Given the description of an element on the screen output the (x, y) to click on. 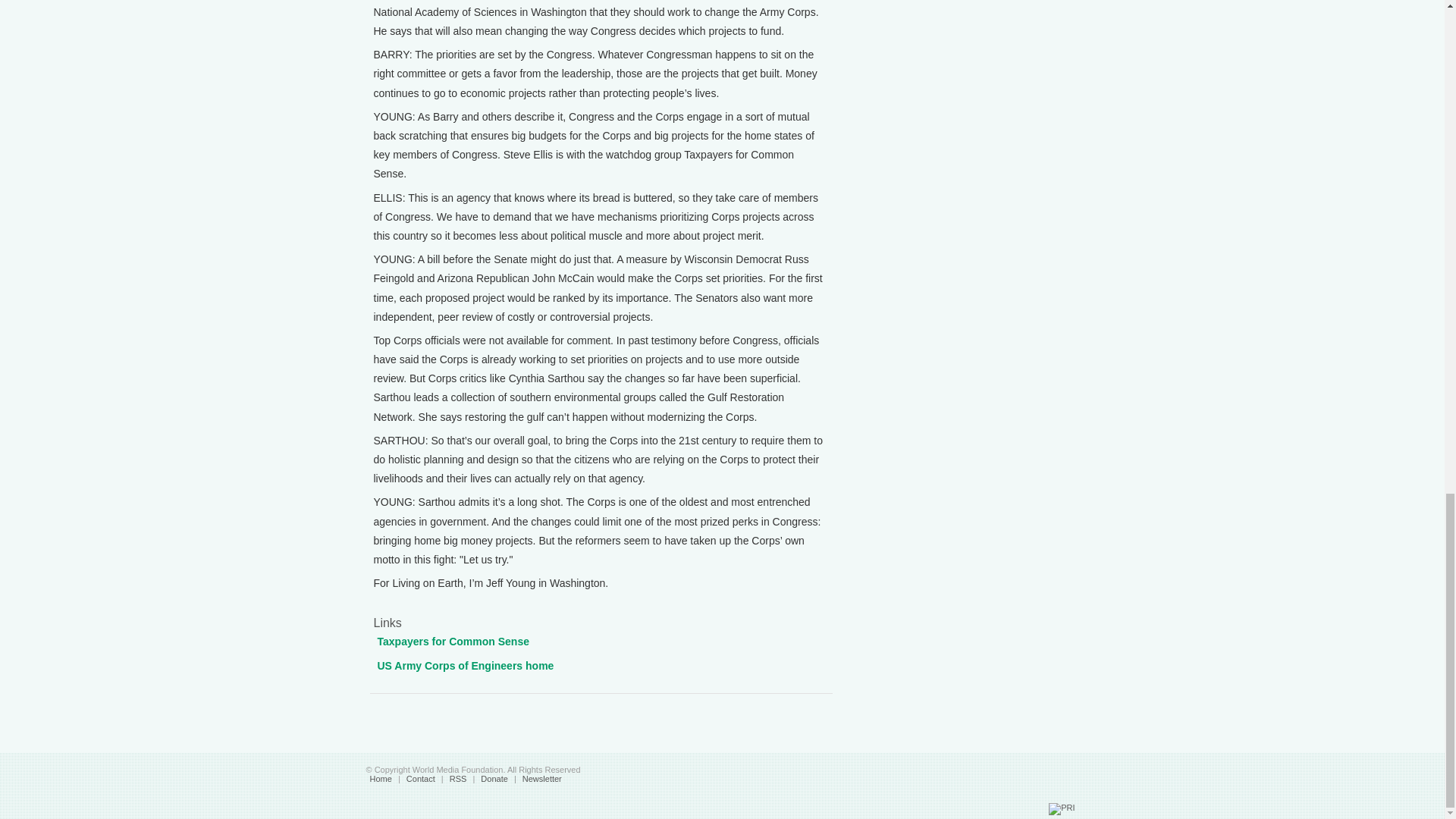
US Army Corps of Engineers home (465, 664)
Taxpayers for Common Sense (453, 641)
